Given the description of an element on the screen output the (x, y) to click on. 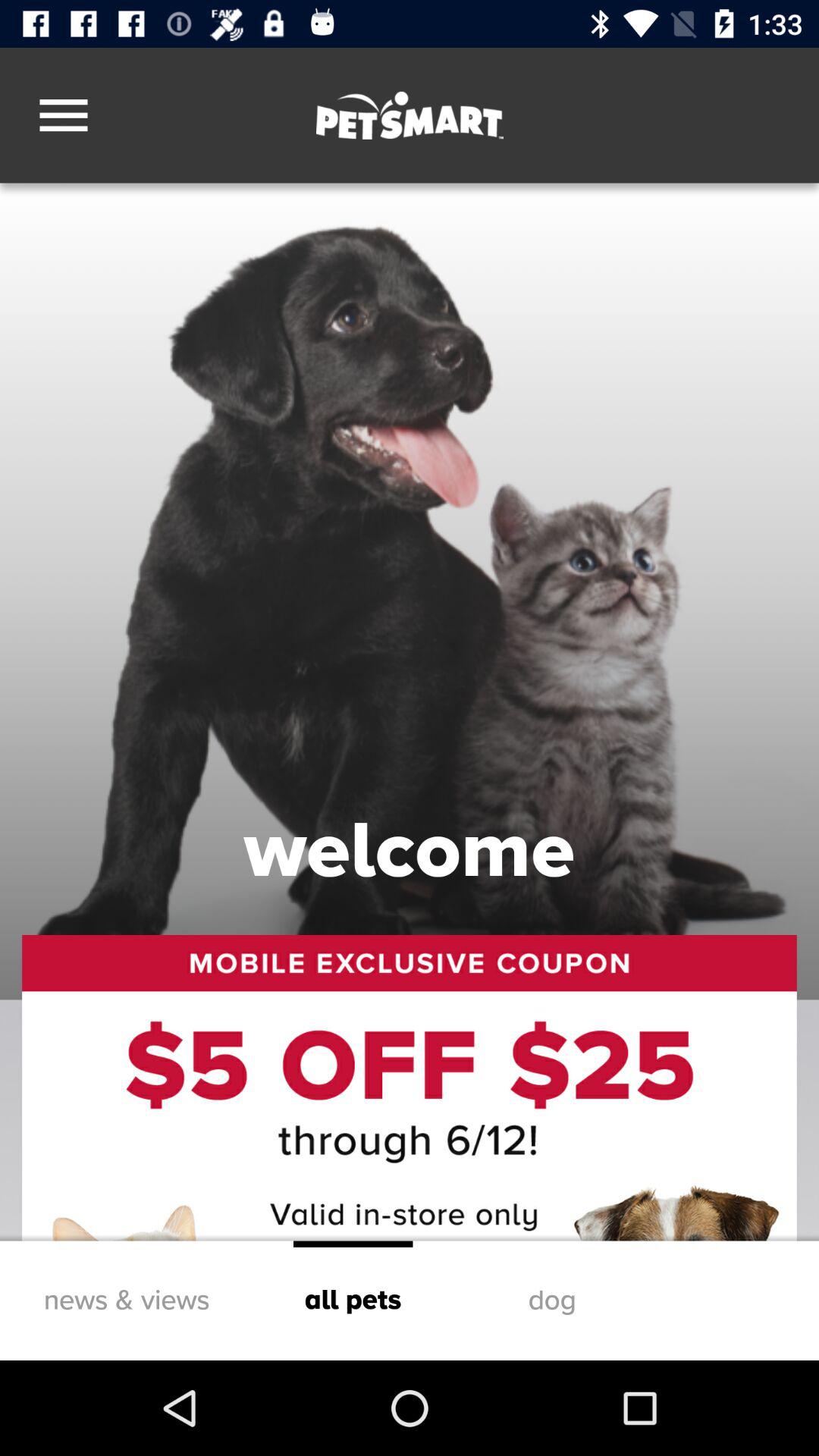
swipe to news & views icon (126, 1300)
